Given the description of an element on the screen output the (x, y) to click on. 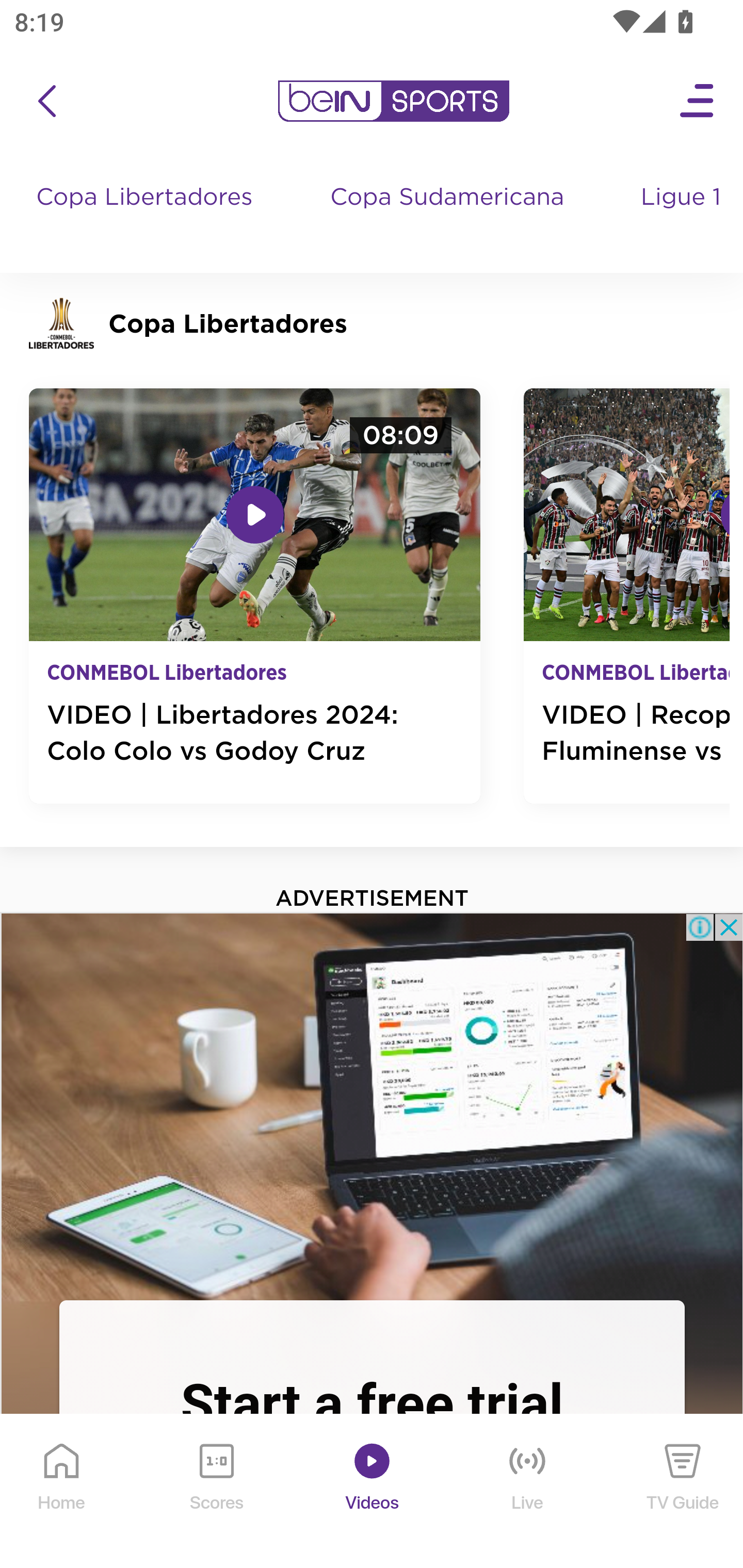
en-us?platform=mobile_android bein logo (392, 101)
icon back (46, 101)
Open Menu Icon (697, 101)
Copa Libertadores (146, 216)
Copa Sudamericana (448, 216)
Ligue 1 (682, 216)
%3Fcid%3Dppc_ROW_%7Bdscampaign%7D%26gclsrc%3Daw (371, 1105)
Home Home Icon Home (61, 1491)
Scores Scores Icon Scores (216, 1491)
Videos Videos Icon Videos (372, 1491)
TV Guide TV Guide Icon TV Guide (682, 1491)
